Given the description of an element on the screen output the (x, y) to click on. 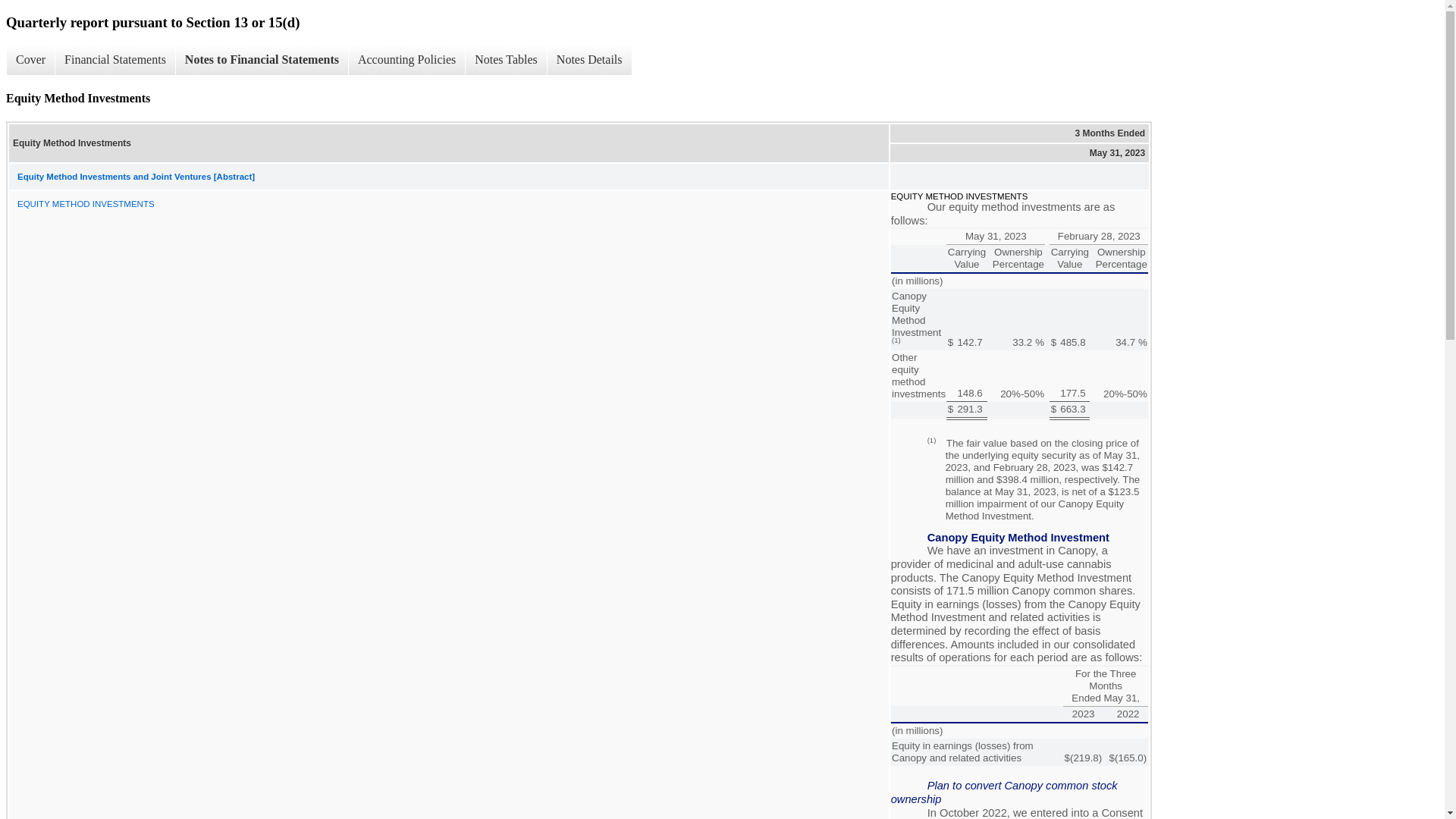
Accounting Policies (405, 60)
Notes Tables (505, 60)
Financial Statements (114, 60)
Notes to Financial Statements (260, 60)
Cover (30, 60)
Notes Details (589, 60)
